Given the description of an element on the screen output the (x, y) to click on. 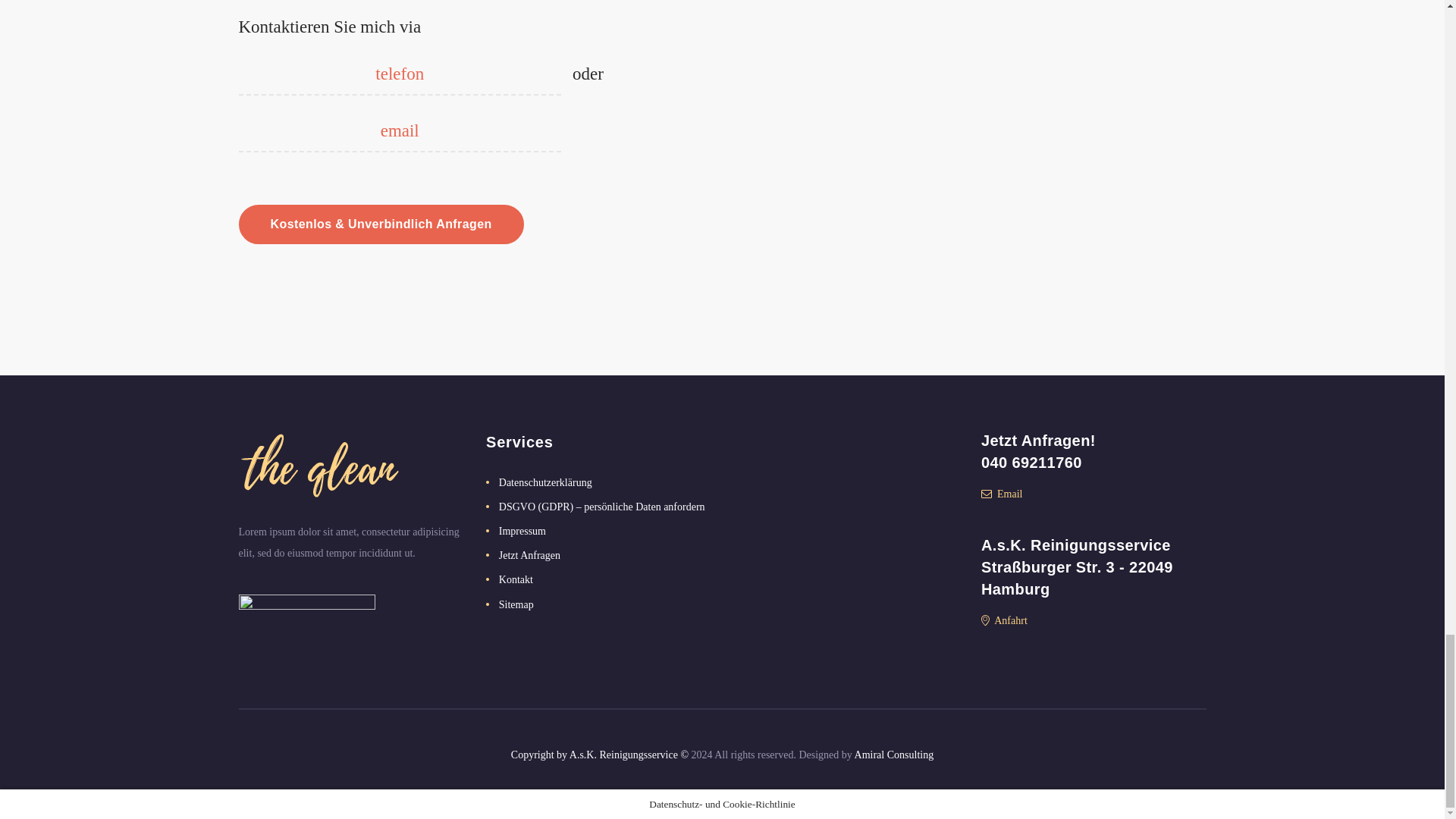
Impressum (522, 531)
  Email (1001, 493)
Jetzt Anfragen (529, 555)
  Anfahrt (1004, 620)
Kontakt (515, 579)
Sitemap (516, 604)
Amiral Consulting (894, 754)
040 69211760 (1094, 463)
